Given the description of an element on the screen output the (x, y) to click on. 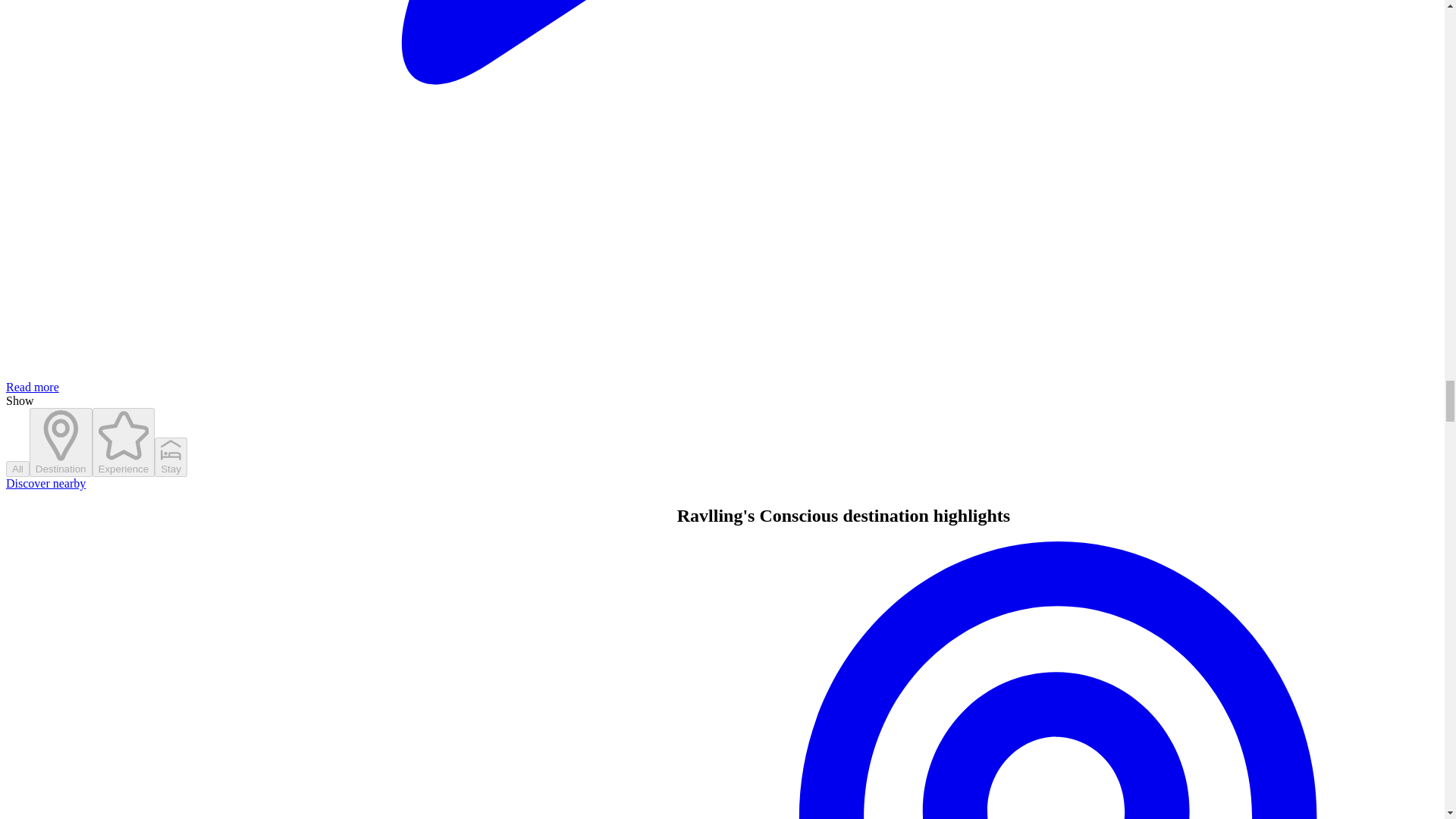
Destination (61, 441)
All (17, 468)
Experience (124, 441)
